Given the description of an element on the screen output the (x, y) to click on. 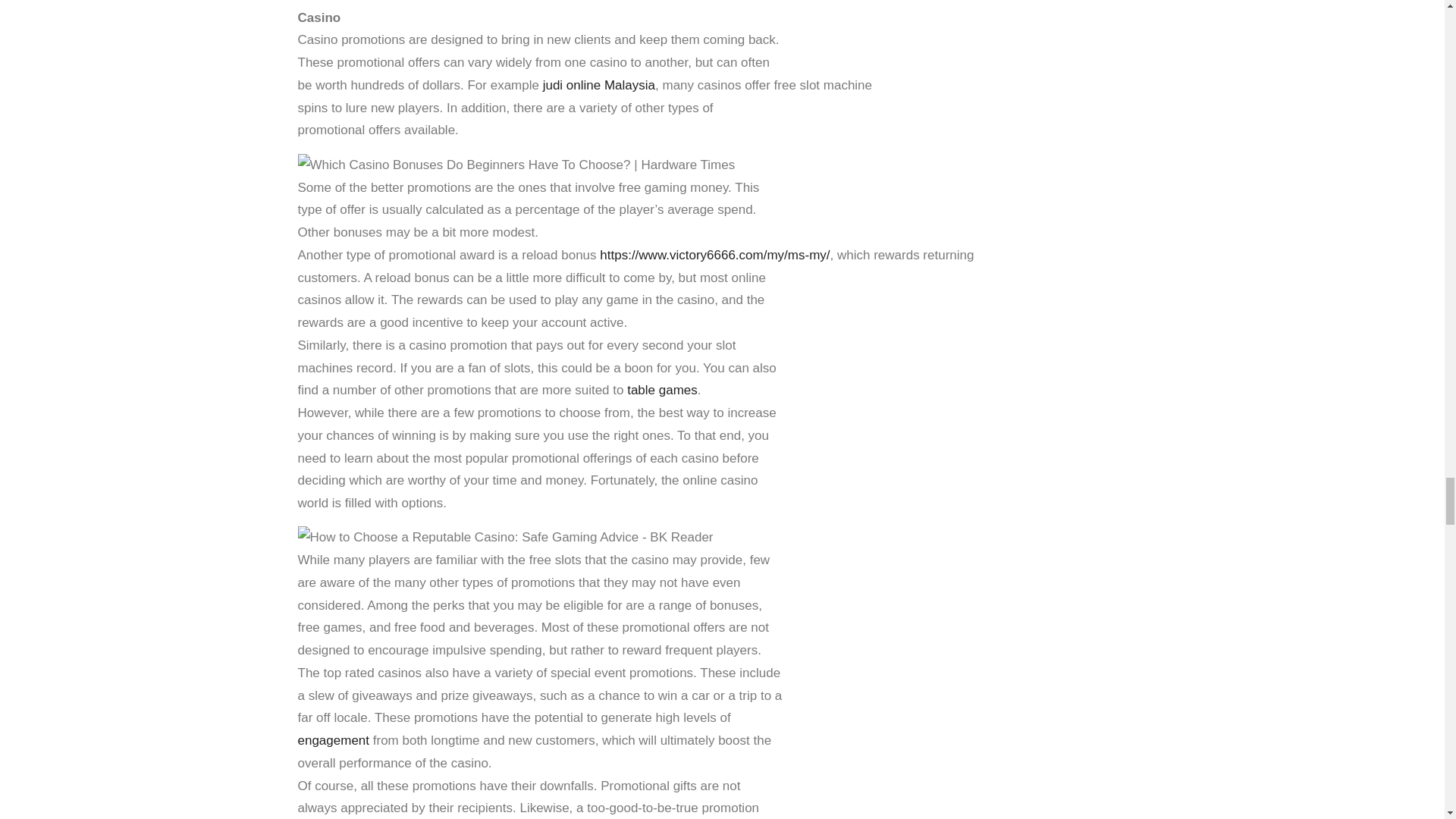
judi online Malaysia (599, 84)
